Given the description of an element on the screen output the (x, y) to click on. 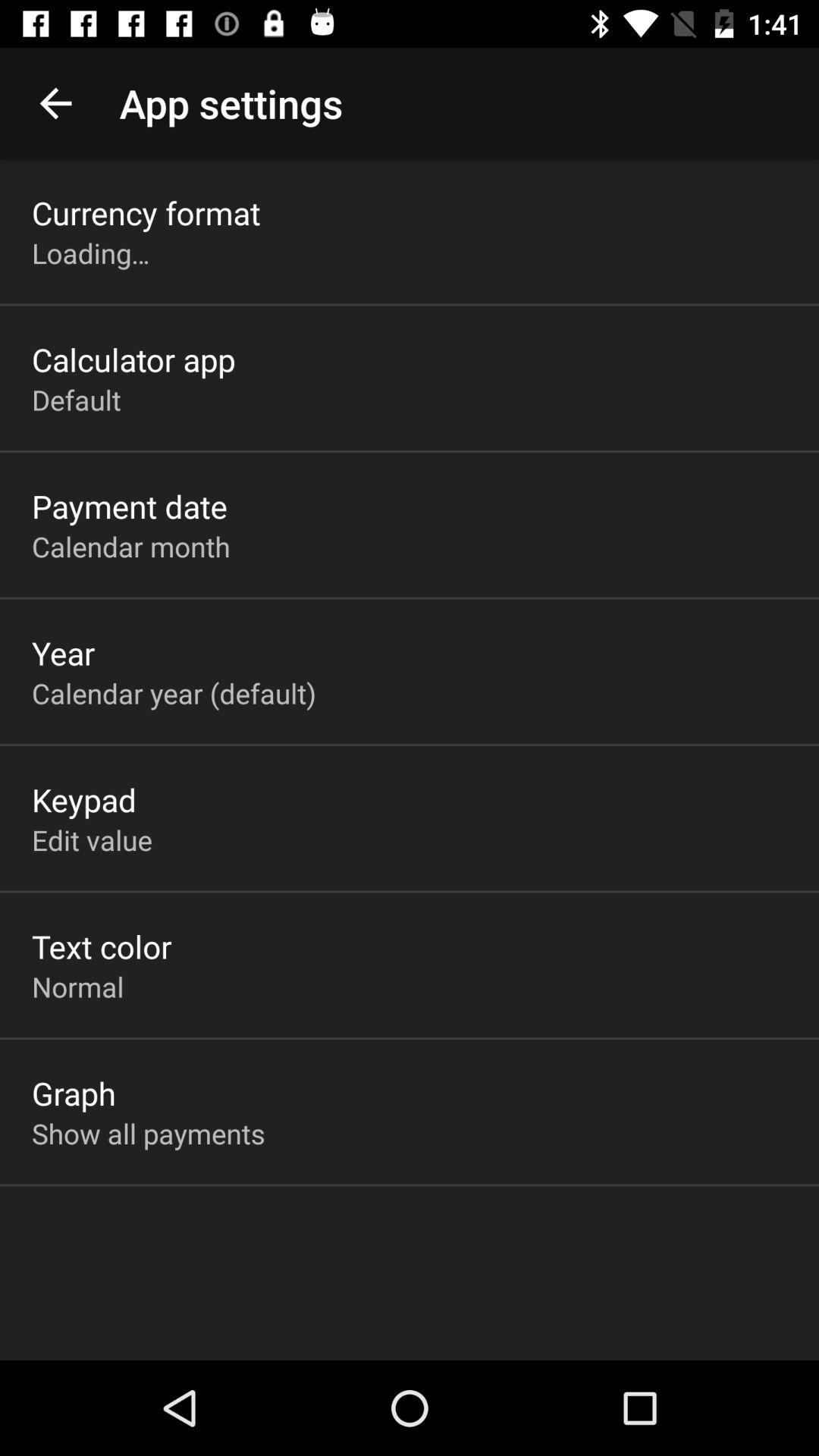
turn on the normal (77, 986)
